Given the description of an element on the screen output the (x, y) to click on. 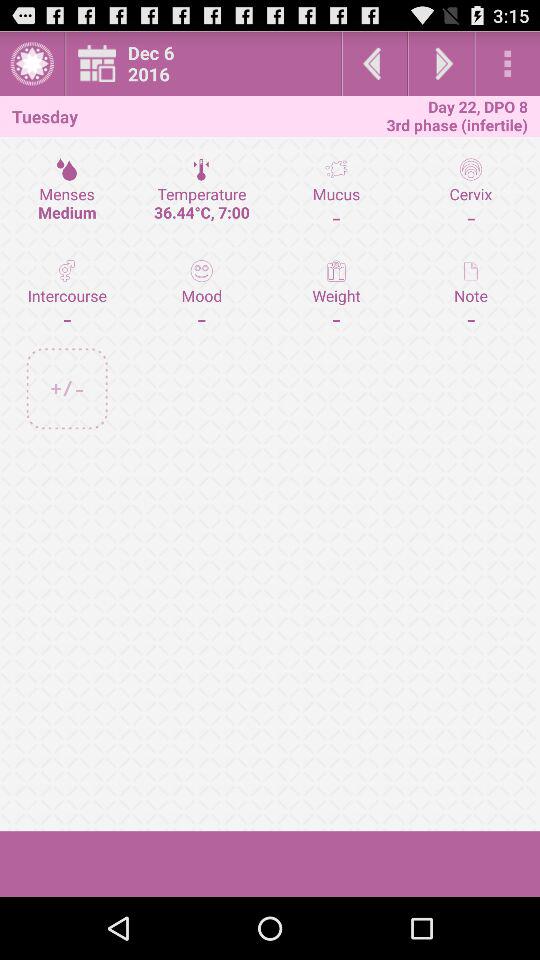
access your profile and settings (32, 63)
